Given the description of an element on the screen output the (x, y) to click on. 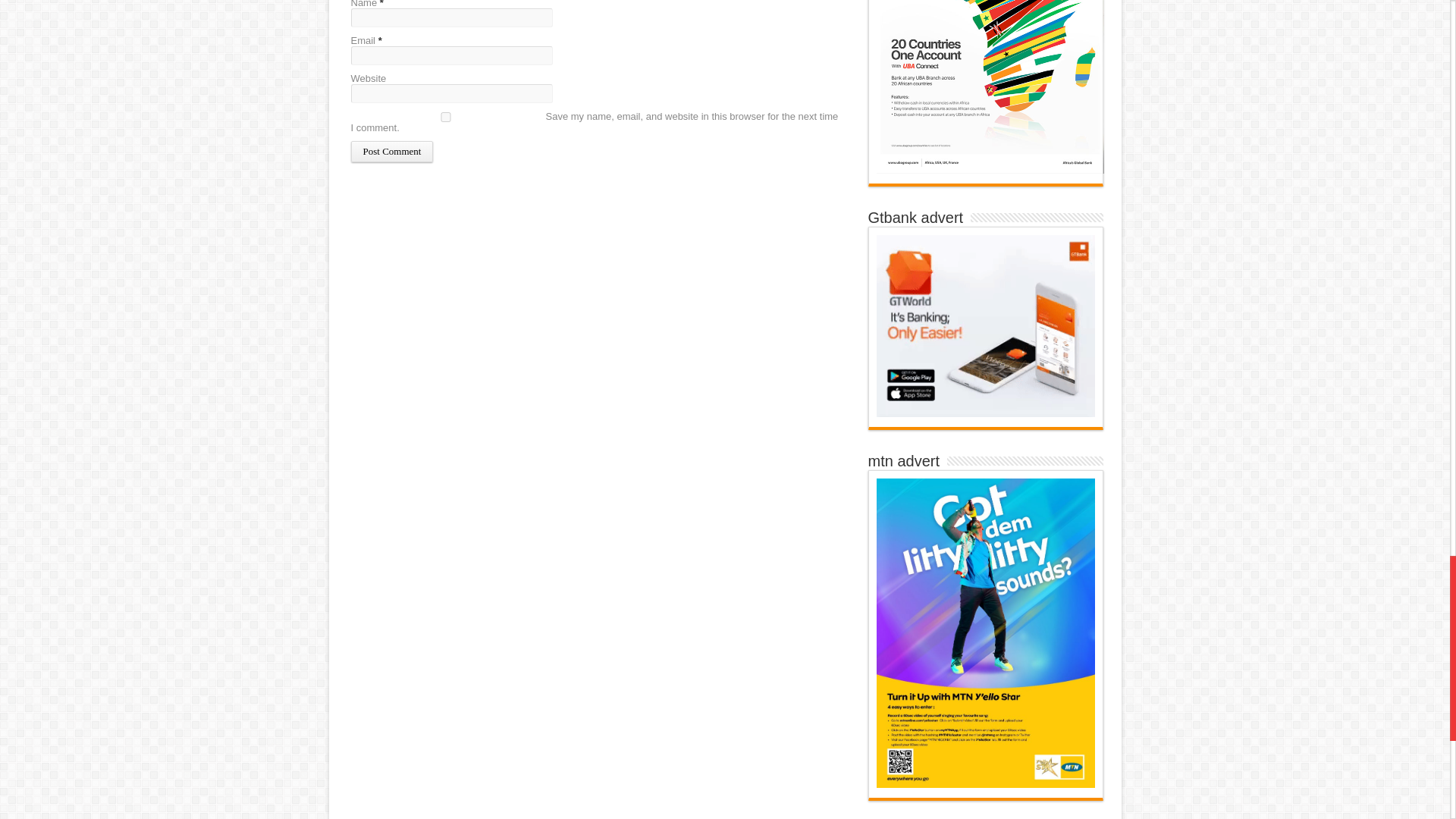
Post Comment (391, 151)
yes (445, 117)
Post Comment (391, 151)
